Given the description of an element on the screen output the (x, y) to click on. 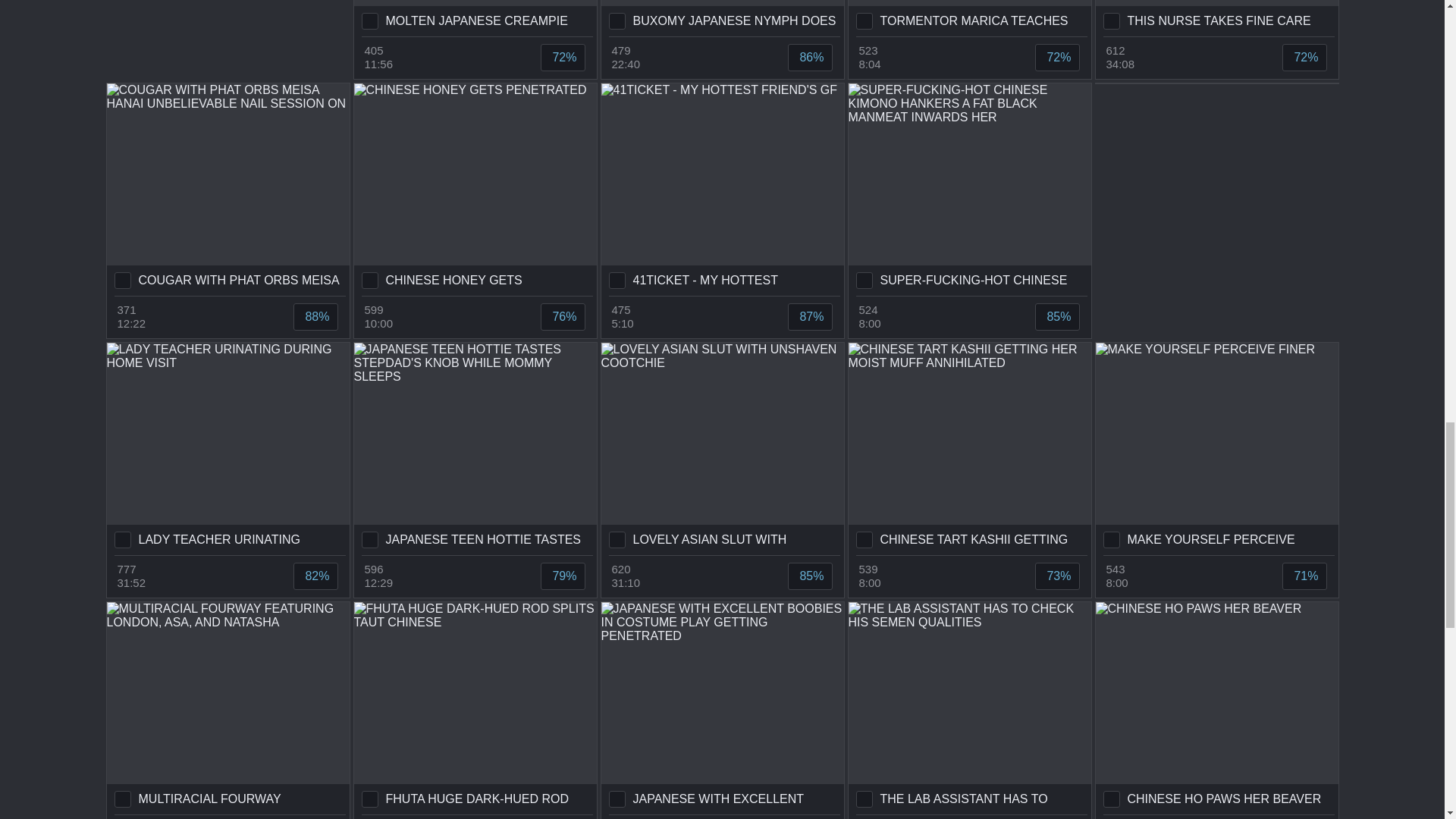
FHUTA HUGE DARK-HUED ROD SPLITS TAUT (474, 707)
MULTIRACIAL FOURWAY FEATURING LONDON, (227, 707)
MOLTEN JAPANESE CREAMPIE (474, 18)
JAPANESE TEEN HOTTIE TASTES STEPDAD'S (474, 449)
BUXOMY JAPANESE NYMPH DOES DT AND (721, 18)
THE LAB ASSISTANT HAS TO CHECK HIS SEMEN (968, 707)
CHINESE HO PAWS HER BEAVER (1216, 707)
41TICKET - MY HOTTEST FRIEND'S GF (721, 189)
SUPER-FUCKING-HOT CHINESE KIMONO HANKERS (968, 189)
JAPANESE WITH EXCELLENT BOOBIES IN (721, 707)
